Given the description of an element on the screen output the (x, y) to click on. 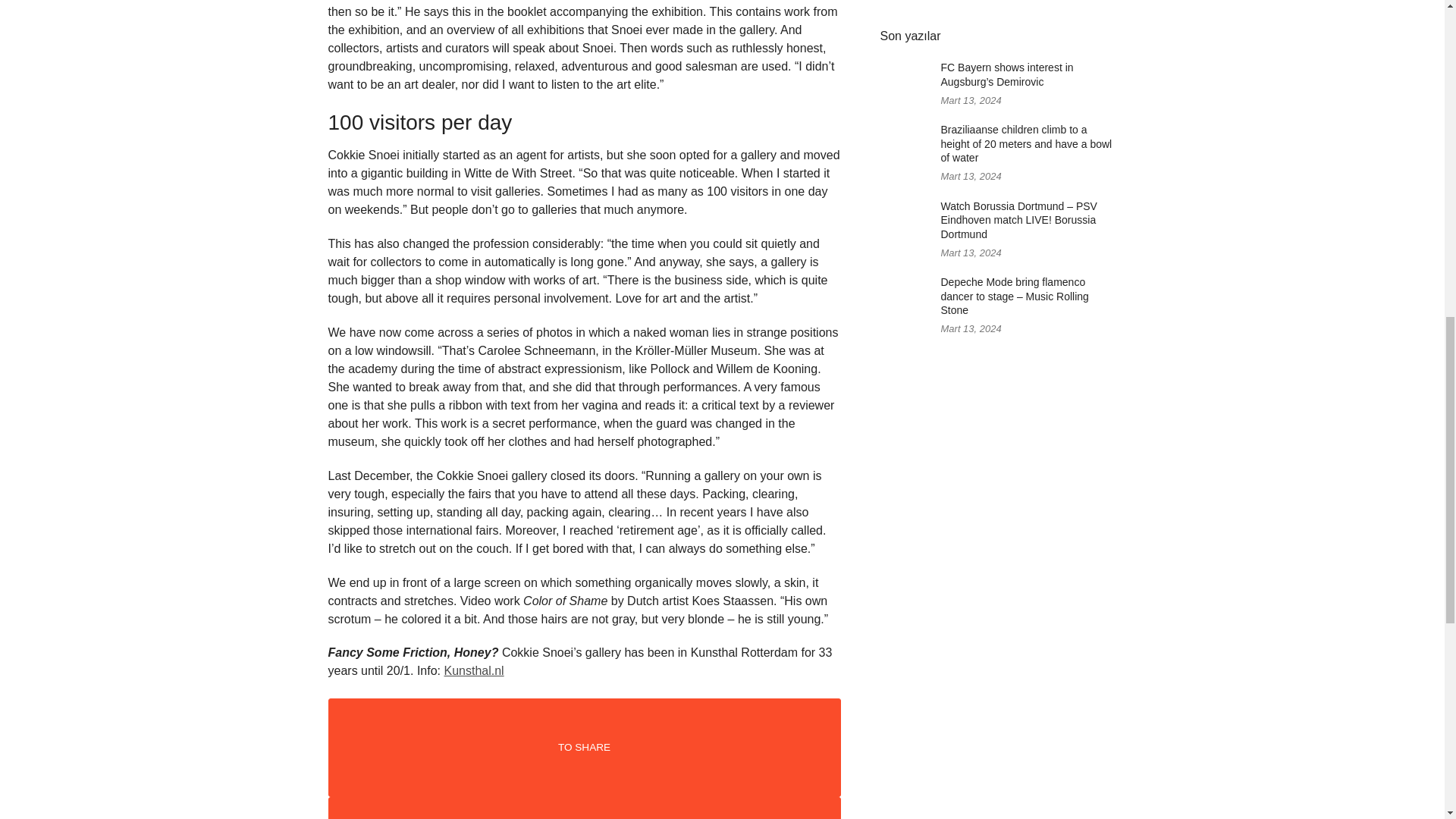
TO SHARE (583, 747)
Kunsthal.nl (473, 670)
EMAIL THE EDITOR (583, 807)
